Given the description of an element on the screen output the (x, y) to click on. 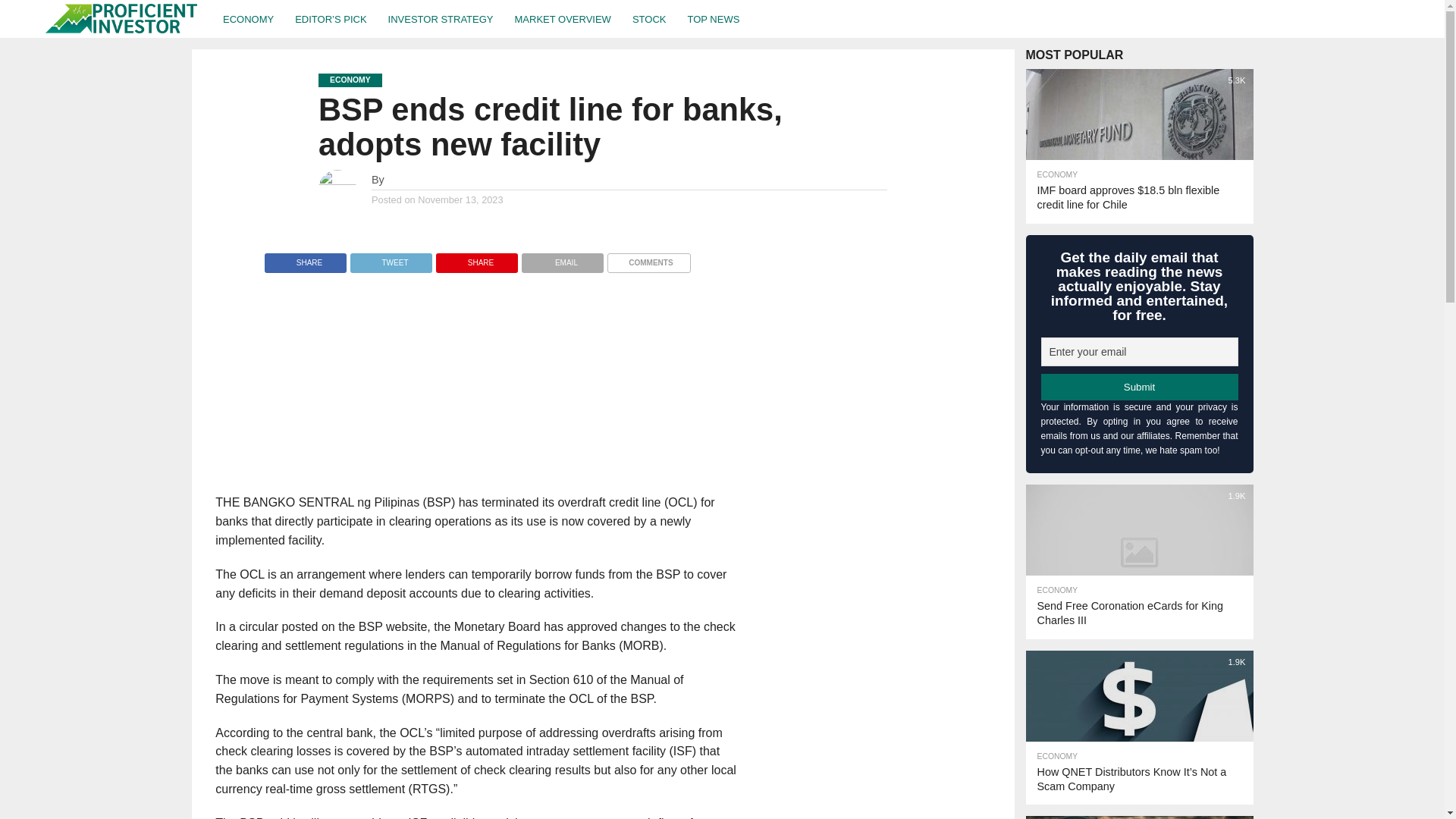
Pin This Post (476, 258)
Submit (1139, 386)
SHARE (305, 258)
SHARE (476, 258)
Share on Facebook (305, 258)
TWEET (390, 258)
TOP NEWS (713, 18)
Enter your email (1139, 351)
COMMENTS (648, 258)
Submit (1139, 386)
INVESTOR STRATEGY (440, 18)
ECONOMY (247, 18)
EMAIL (562, 258)
MARKET OVERVIEW (562, 18)
STOCK (649, 18)
